Given the description of an element on the screen output the (x, y) to click on. 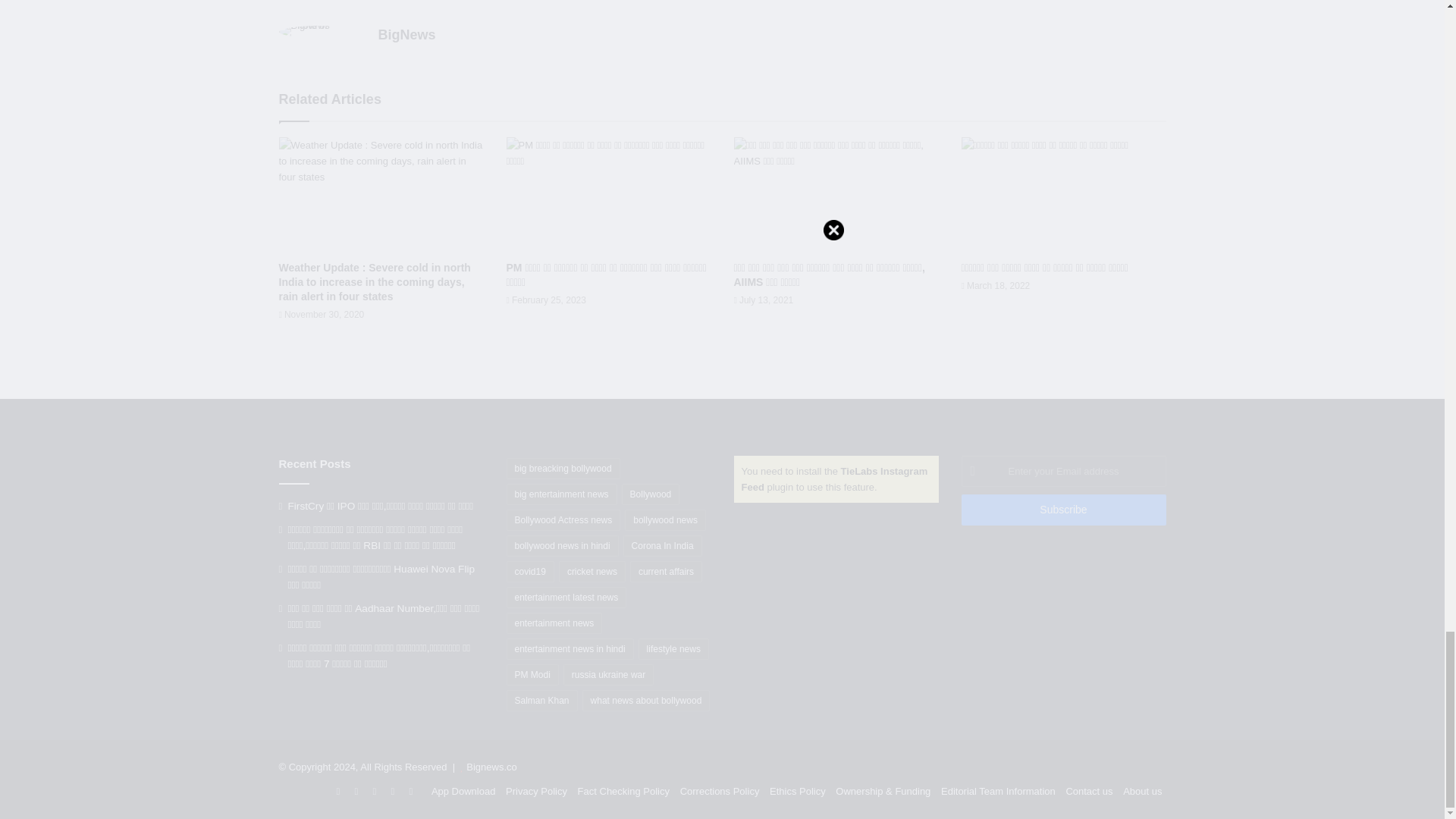
Subscribe (1063, 509)
